Given the description of an element on the screen output the (x, y) to click on. 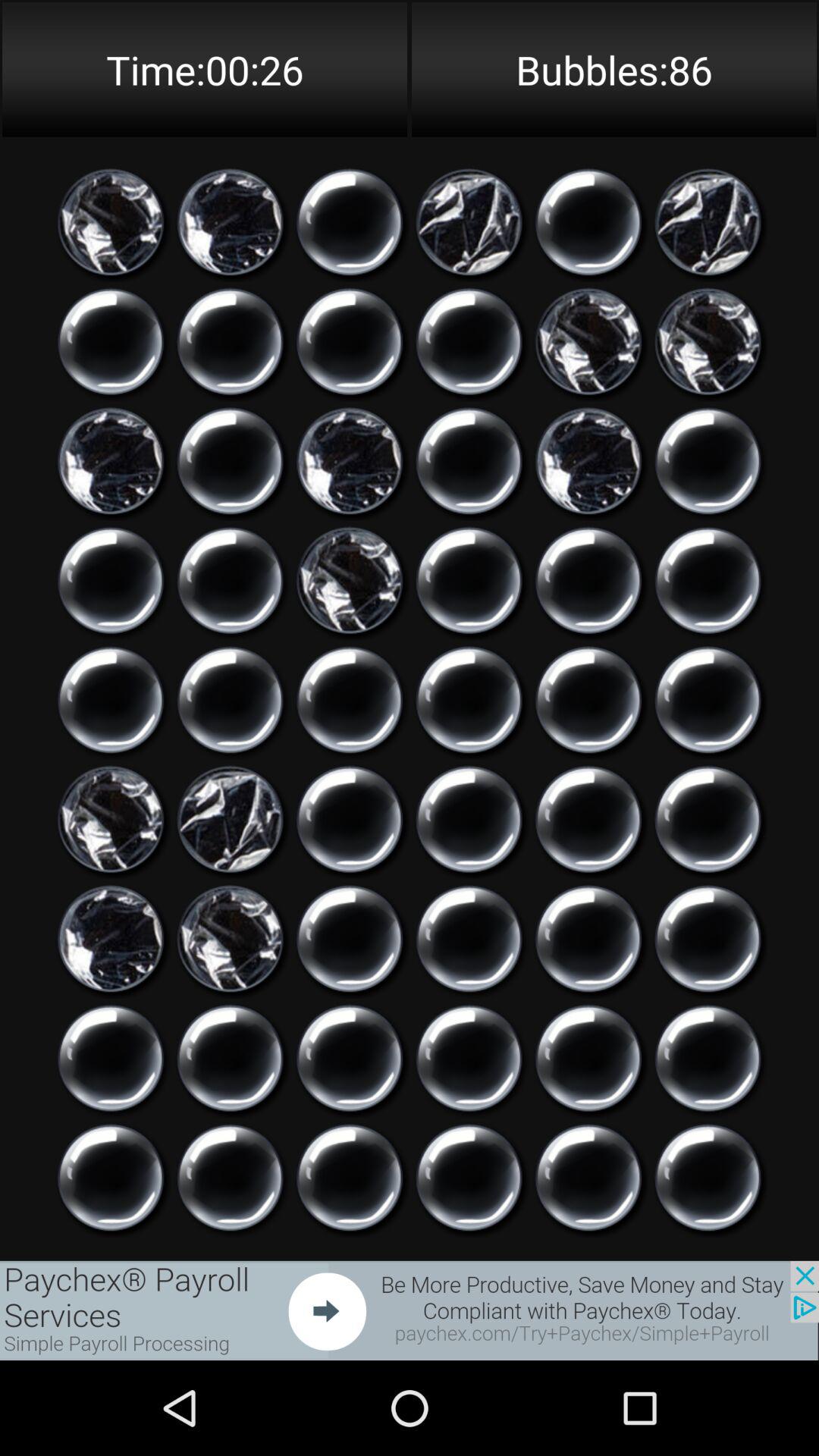
click bubble option (468, 460)
